Given the description of an element on the screen output the (x, y) to click on. 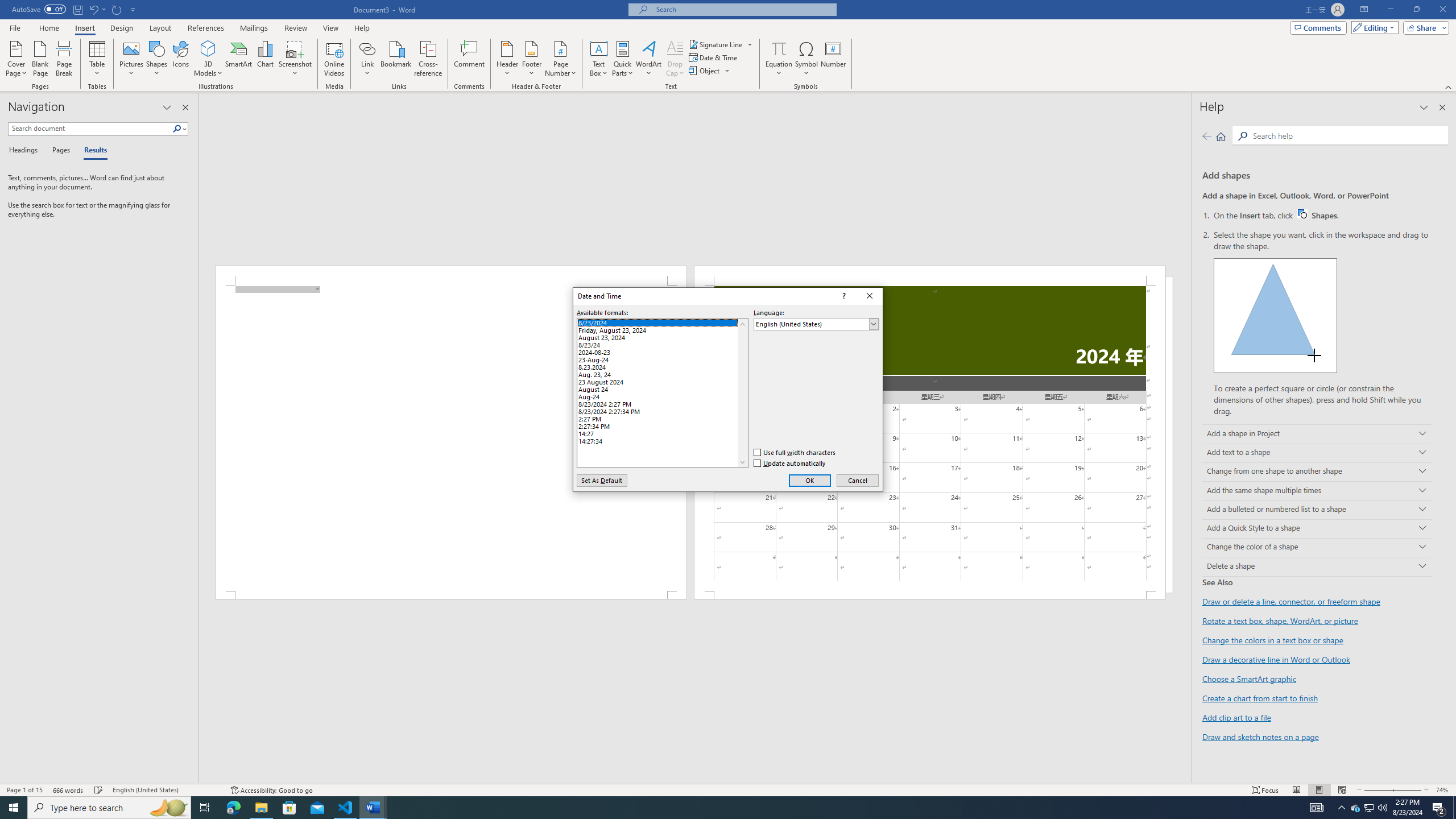
AutomationID: 17 (742, 392)
2:27:34 PM (662, 425)
Link (367, 58)
Text Box (598, 58)
23-Aug-24 (662, 357)
Object... (705, 69)
Draw and sketch notes on a page (1260, 736)
Footer (531, 58)
